Given the description of an element on the screen output the (x, y) to click on. 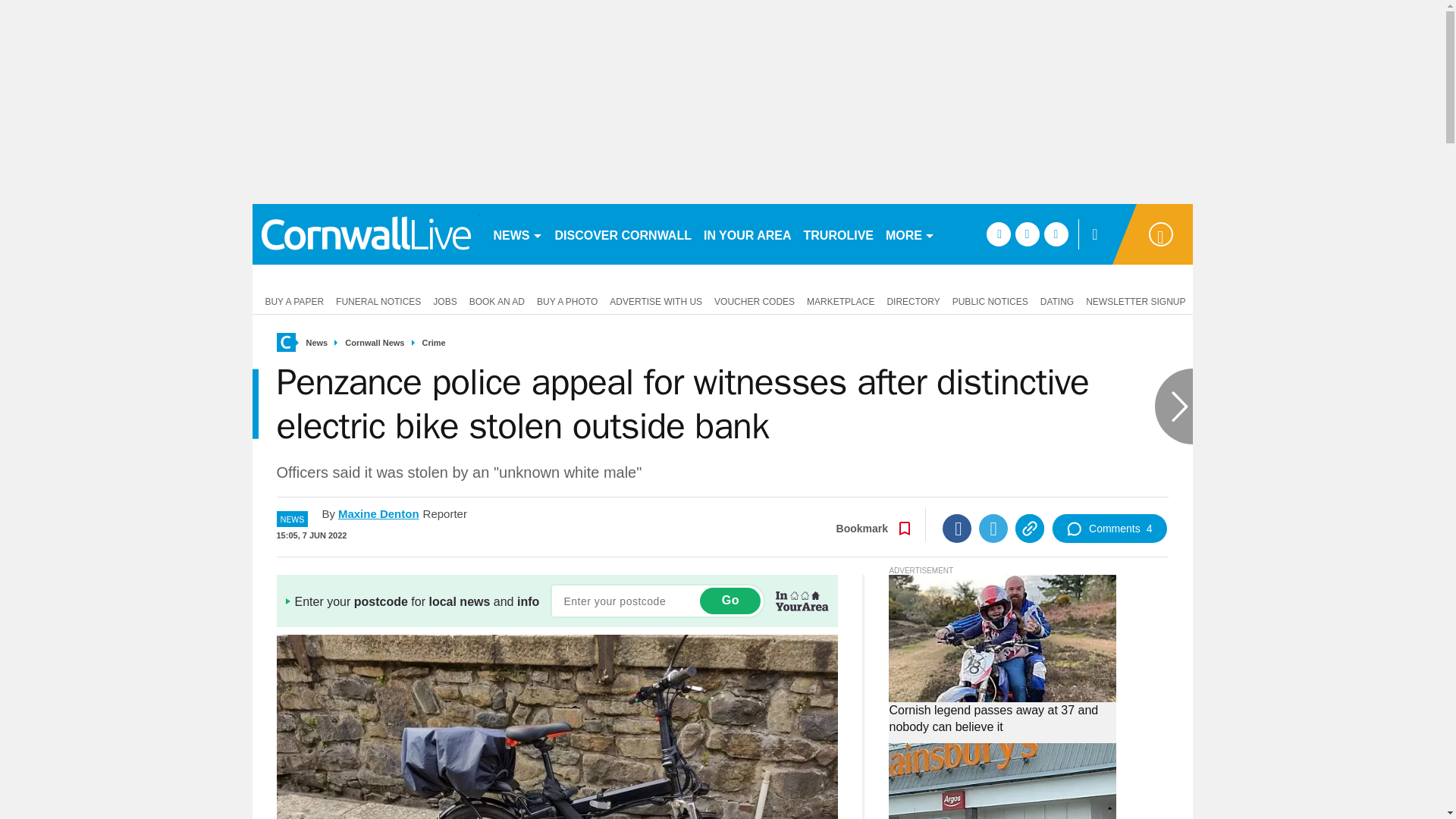
DISCOVER CORNWALL (622, 233)
MORE (909, 233)
instagram (1055, 233)
TRUROLIVE (838, 233)
IN YOUR AREA (747, 233)
cornwalllive (365, 233)
Comments (1108, 528)
Twitter (992, 528)
Facebook (956, 528)
Go (730, 601)
twitter (1026, 233)
facebook (997, 233)
Cornish legend passes away at 37 and nobody can believe it (1002, 718)
NEWS (517, 233)
